Given the description of an element on the screen output the (x, y) to click on. 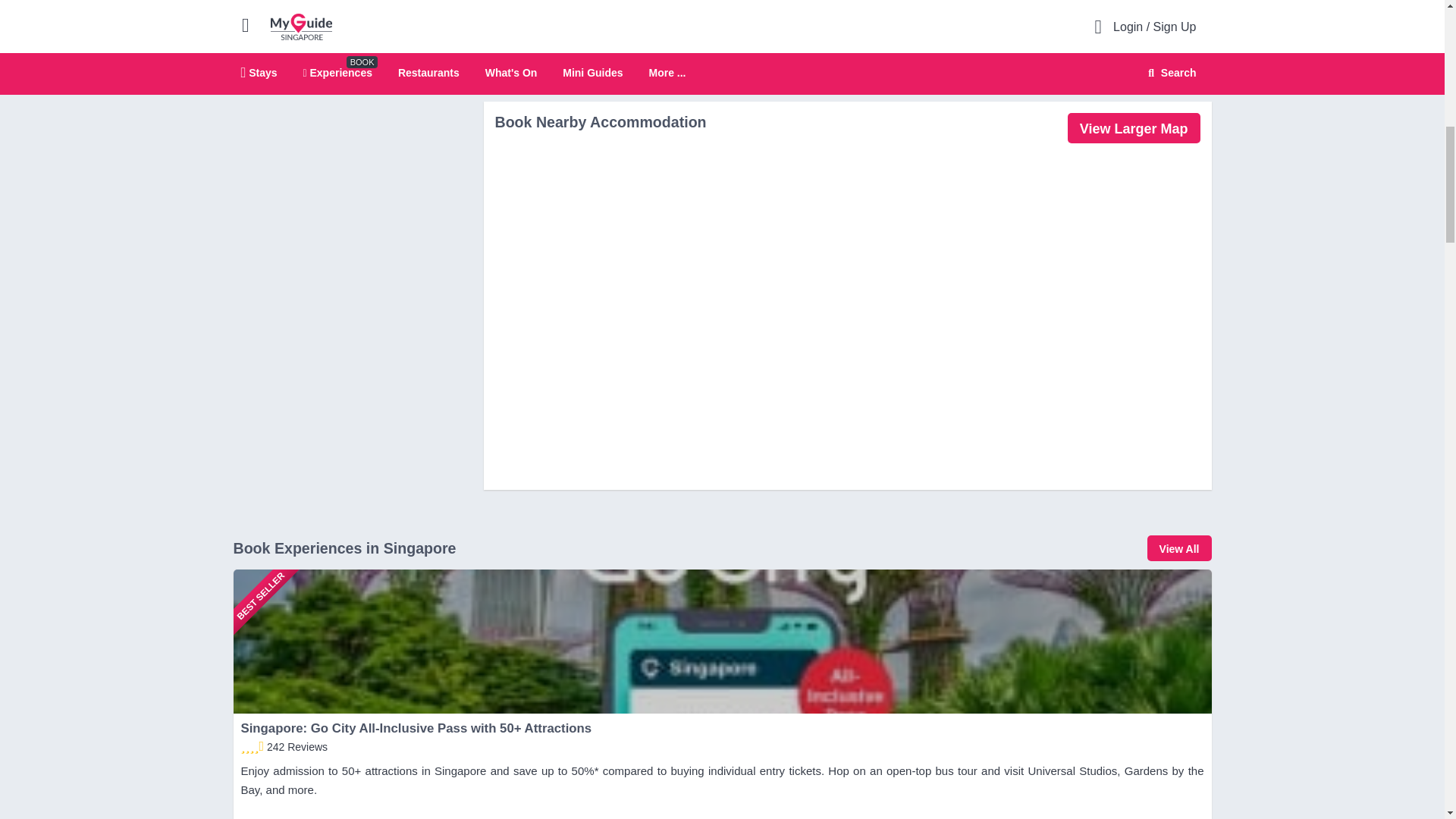
Larger Map for Company: St. Andrew's Cathedral Singapore (1133, 128)
